Given the description of an element on the screen output the (x, y) to click on. 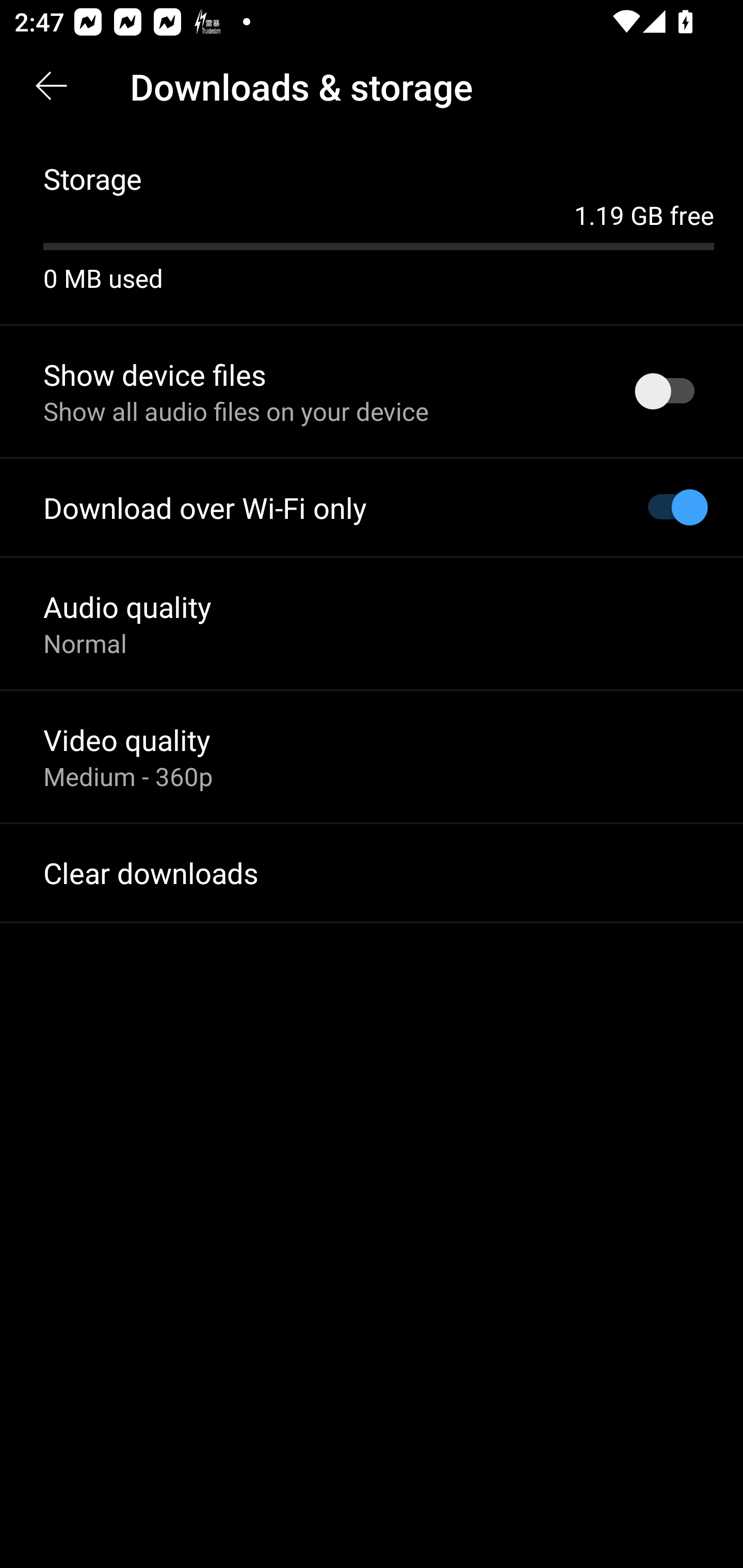
Back (50, 86)
Download over Wi-Fi only (371, 507)
Audio quality Normal (371, 623)
Video quality Medium - 360p (371, 756)
Clear downloads (371, 872)
